Given the description of an element on the screen output the (x, y) to click on. 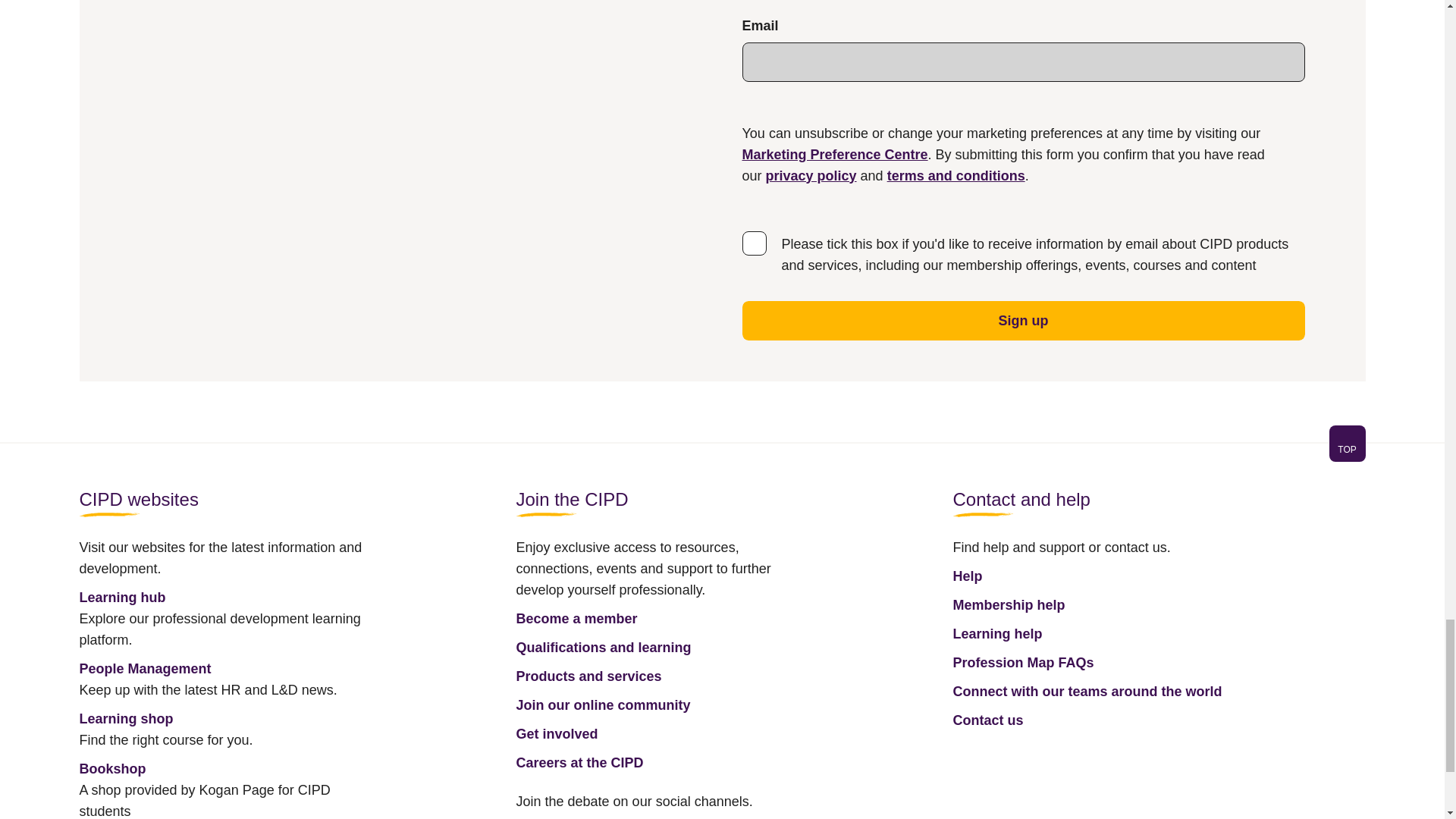
TOP (1346, 443)
TOP (721, 452)
TOP (1346, 449)
Consented (753, 242)
